Given the description of an element on the screen output the (x, y) to click on. 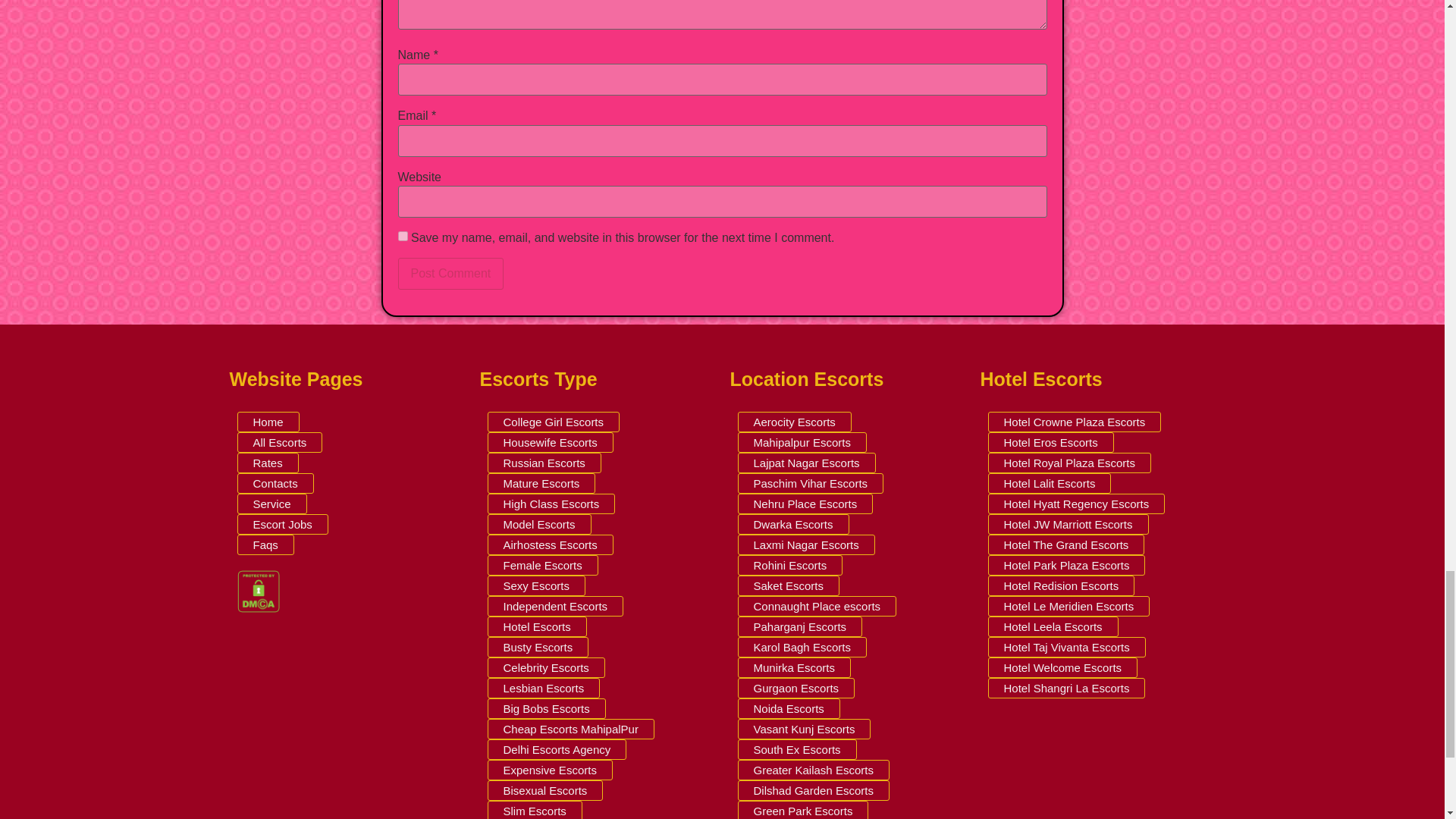
Escort Jobs (281, 524)
Post Comment (450, 273)
Independent Escorts (554, 606)
Russian Escorts (542, 462)
Sexy Escorts (535, 585)
Mature Escorts (540, 483)
All Escorts (278, 442)
High Class Escorts (550, 503)
Model Escorts (538, 524)
yes (402, 235)
Home (266, 421)
Rates (266, 462)
College Girl Escorts (553, 421)
Faqs (264, 544)
Service (270, 503)
